Given the description of an element on the screen output the (x, y) to click on. 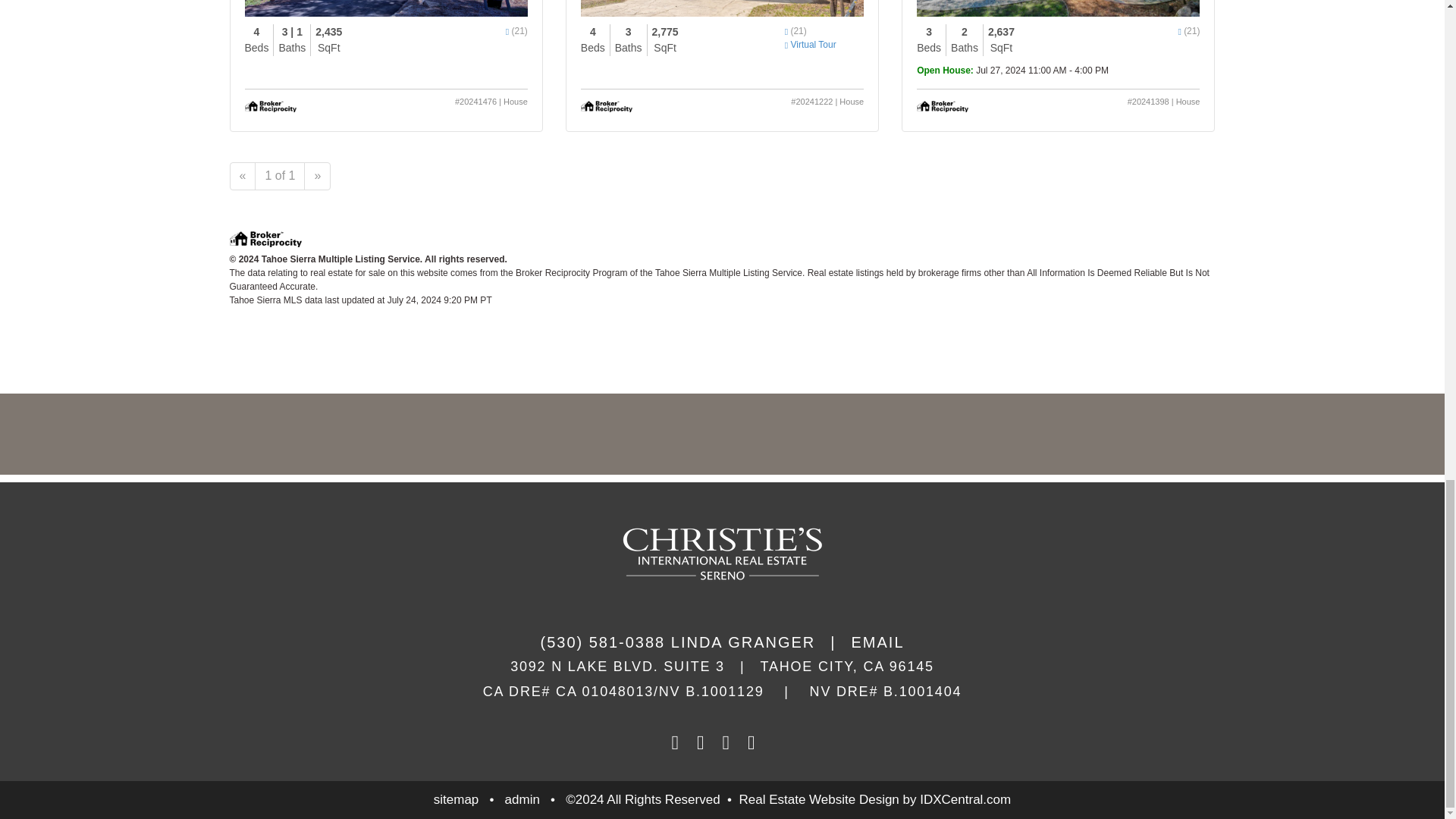
Real Estate Website Design (818, 799)
